Given the description of an element on the screen output the (x, y) to click on. 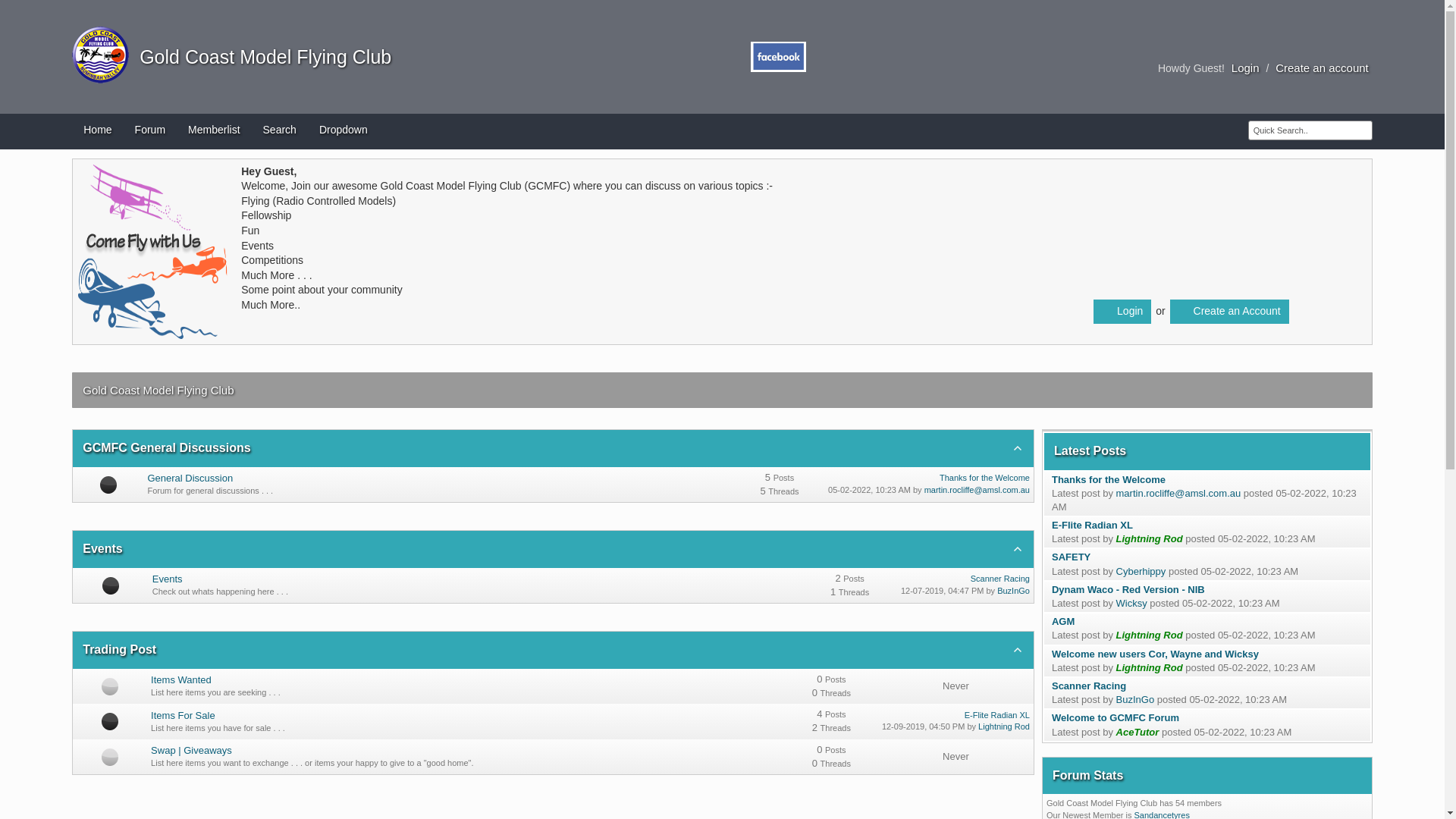
[-] Element type: hover (1017, 548)
Home Element type: text (97, 131)
Search Element type: text (279, 131)
Welcome new users Cor, Wayne and Wicksy Element type: text (1154, 653)
Lightning Rod Element type: text (1149, 667)
martin.rocliffe@amsl.com.au Element type: text (1178, 492)
Lightning Rod Element type: text (1149, 538)
Scanner Racing Element type: text (1088, 685)
  Gold Coast Model Flying Club Element type: text (259, 56)
Scanner Racing Element type: text (999, 578)
AceTutor Element type: text (1137, 731)
[-] Element type: hover (1017, 448)
Dynam Waco - Red Version - NIB Element type: text (1127, 589)
Thanks for the Welcome Element type: text (984, 477)
Forum Contains No New Posts Element type: hover (109, 685)
Gold Coast Model Flying Club Element type: hover (100, 47)
Events Element type: text (102, 548)
Lightning Rod Element type: text (1003, 726)
Cyberhippy Element type: text (1141, 571)
GCMFC General Discussions Element type: text (166, 447)
BuzInGo Element type: text (1135, 699)
E-Flite Radian XL Element type: text (996, 714)
Forum Contains New Posts - Click to mark this forum as read Element type: hover (108, 484)
BuzInGo Element type: text (1013, 590)
Welcome to GCMFC Forum Element type: text (1115, 717)
Trading Post Element type: text (119, 649)
Forum Contains New Posts - Click to mark this forum as read Element type: hover (109, 720)
Thanks for the Welcome Element type: text (1108, 479)
Dropdown Element type: text (343, 131)
[-] Element type: hover (1017, 649)
martin.rocliffe@amsl.com.au Element type: text (976, 489)
Login Element type: text (1245, 67)
Wicksy Element type: text (1131, 602)
General Discussion Element type: text (189, 477)
GCMFC Facebook Page Element type: hover (778, 49)
E-Flite Radian XL Element type: text (1091, 524)
Create an account Element type: text (1321, 67)
Lightning Rod Element type: text (1149, 634)
Forum Contains No New Posts Element type: hover (109, 756)
SAFETY Element type: text (1070, 556)
Swap | Giveaways Element type: text (191, 750)
AGM Element type: text (1062, 621)
Forum Element type: text (149, 131)
Memberlist Element type: text (213, 131)
Events Element type: text (167, 578)
Items For Sale Element type: text (182, 715)
Items Wanted Element type: text (180, 679)
Forum Contains New Posts - Click to mark this forum as read Element type: hover (110, 585)
Login Element type: text (1122, 311)
Create an Account Element type: text (1229, 311)
